Given the description of an element on the screen output the (x, y) to click on. 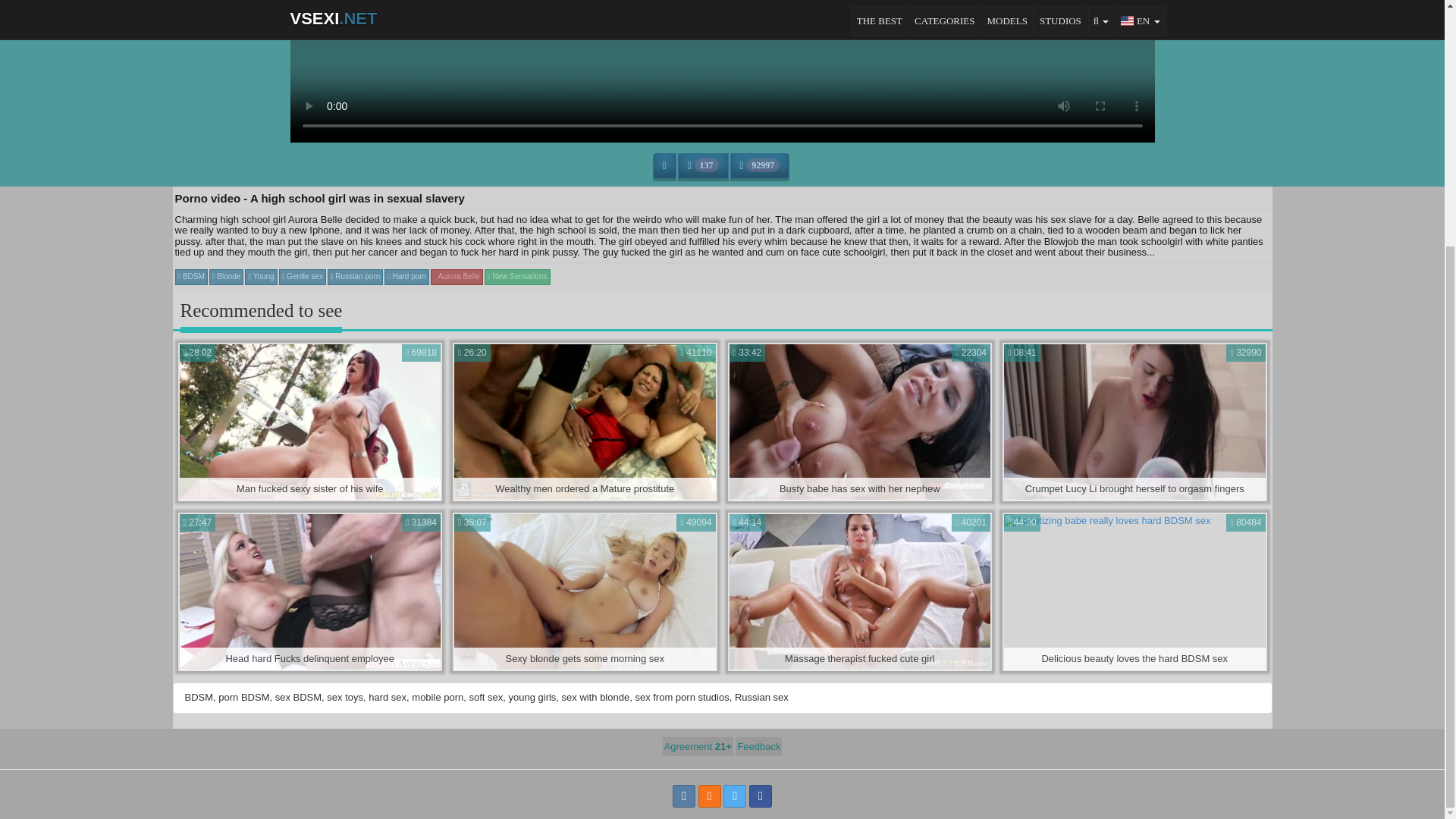
Like (860, 591)
Russian porn (703, 166)
New Sensations (354, 276)
Man fucked sexy sister of his wife (517, 276)
92997 (309, 591)
Aurora Belle (309, 422)
Blonde (309, 422)
137 (760, 166)
Gentle sex (456, 276)
Download video (226, 276)
